Given the description of an element on the screen output the (x, y) to click on. 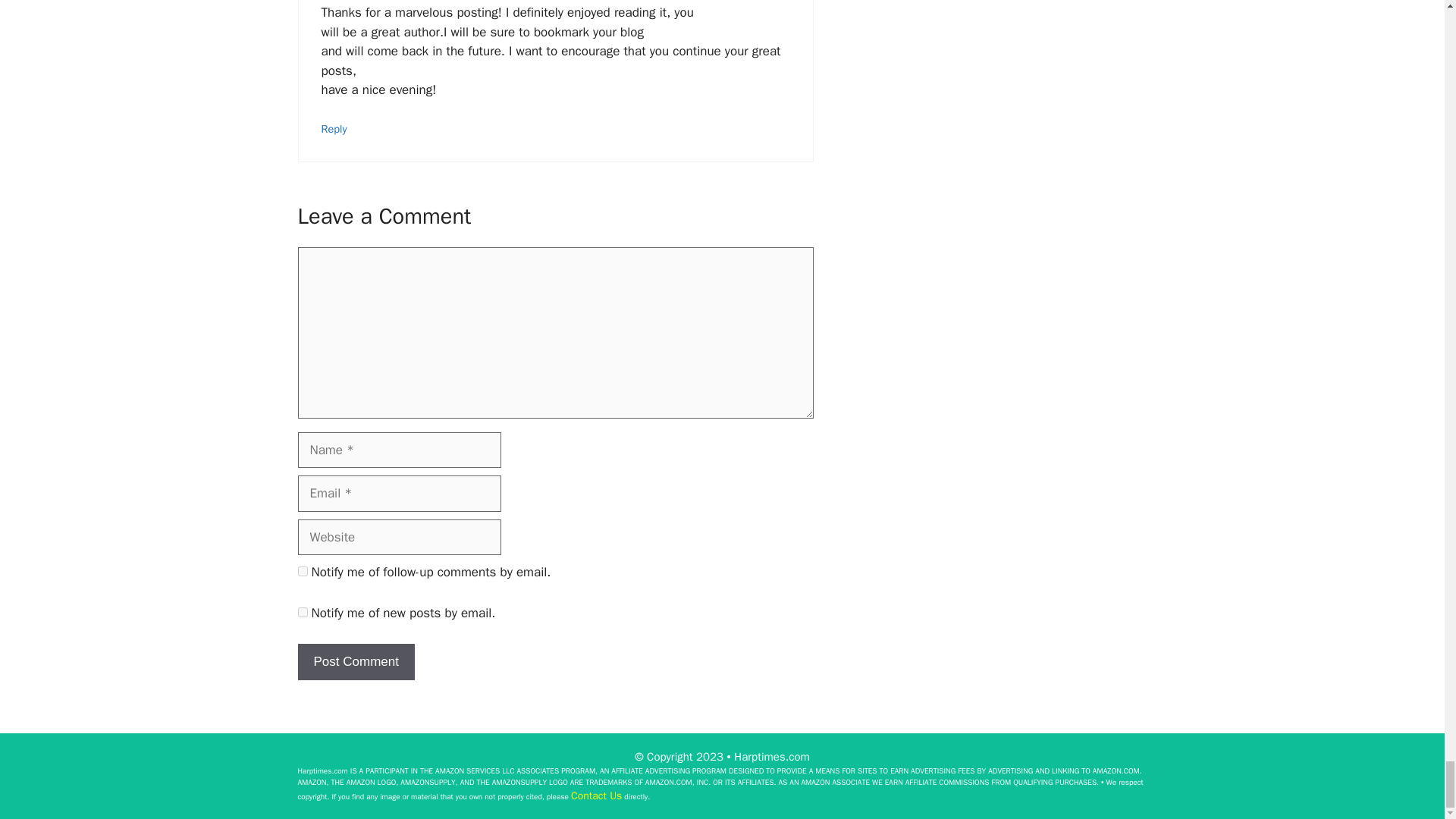
Post Comment (355, 661)
subscribe (302, 571)
subscribe (302, 612)
